Given the description of an element on the screen output the (x, y) to click on. 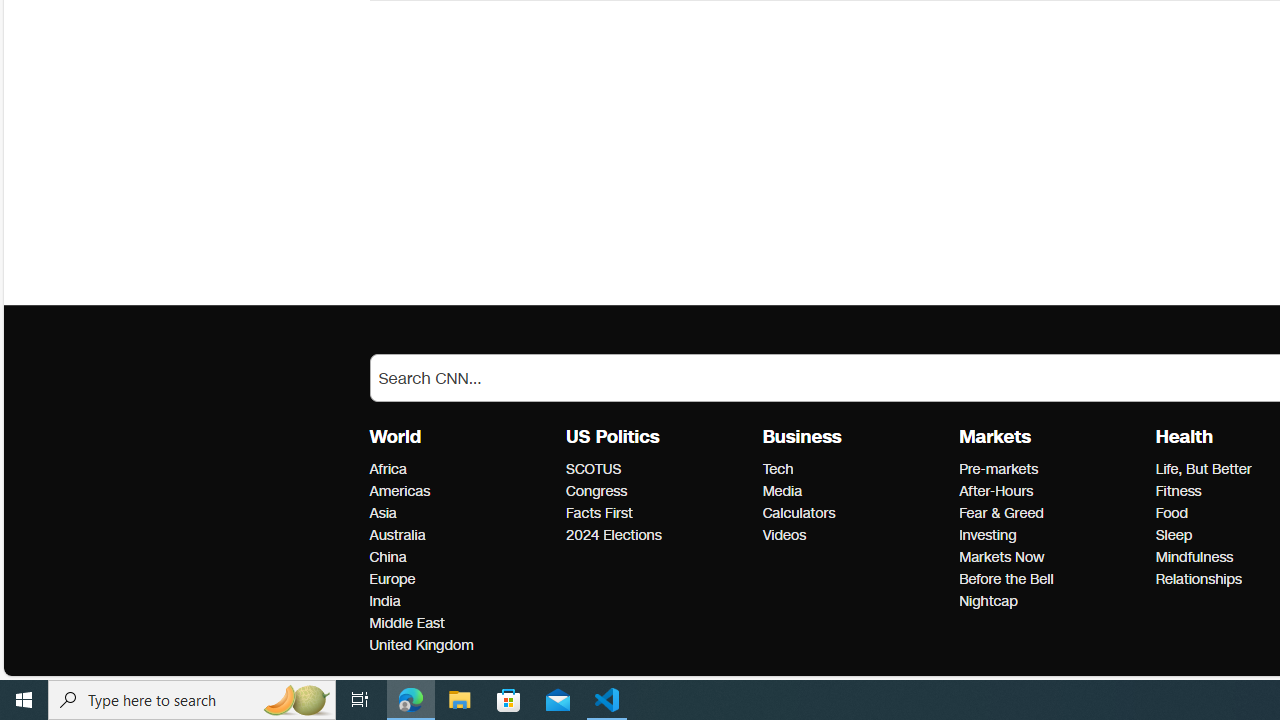
Markets Pre-markets (998, 469)
Fear & Greed (1051, 513)
World United Kingdom (420, 645)
Health Mindfulness (1193, 557)
World Middle East (406, 623)
Markets After-Hours (996, 491)
Health Fitness (1177, 491)
Media (854, 492)
Markets Markets Now (1001, 557)
Markets Now (1051, 557)
Europe (461, 579)
US Politics 2024 Elections (613, 535)
Markets Nightcap (987, 601)
United Kingdom (461, 646)
